Given the description of an element on the screen output the (x, y) to click on. 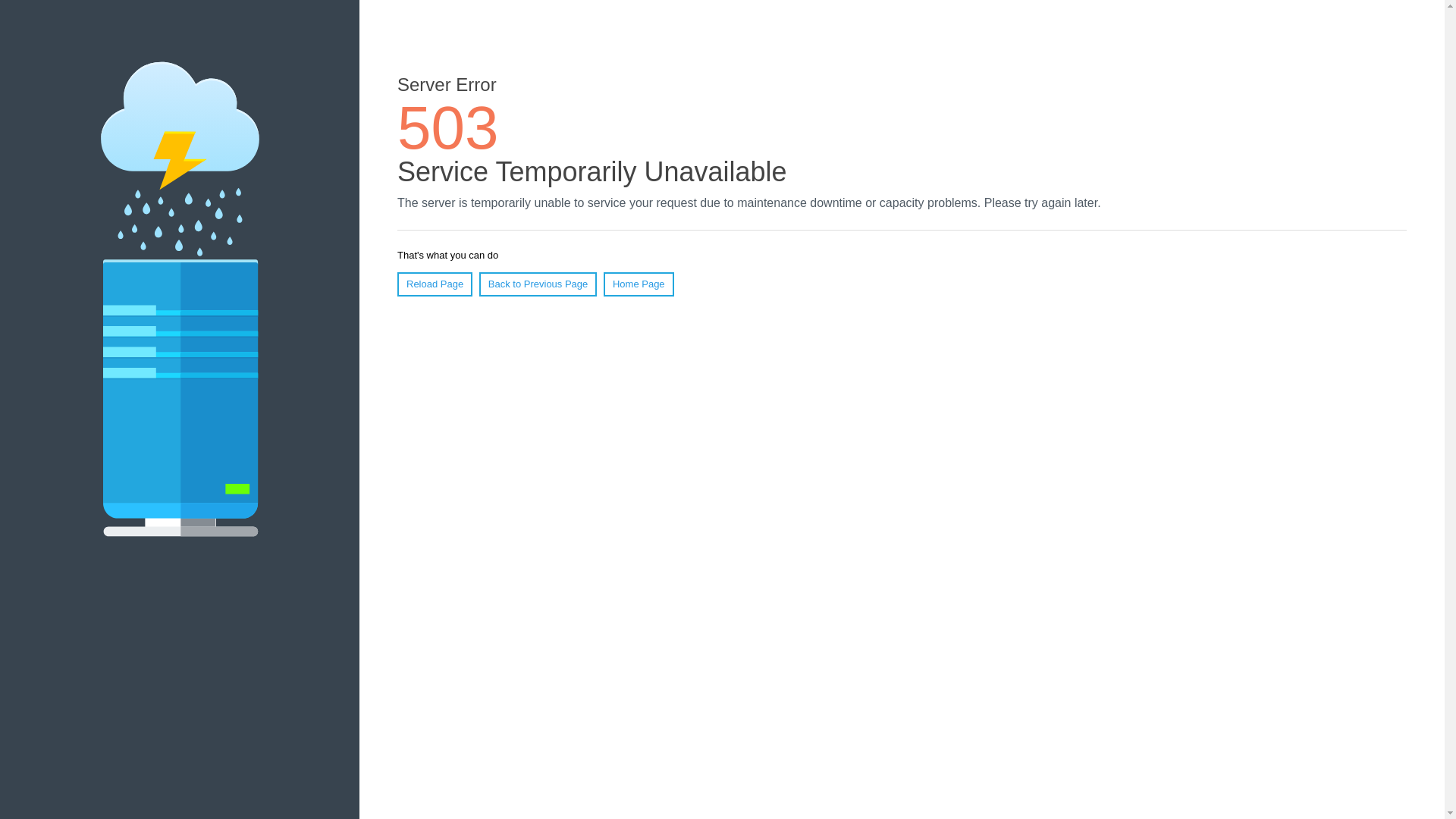
Back to Previous Page Element type: text (538, 284)
Reload Page Element type: text (434, 284)
Home Page Element type: text (638, 284)
